Given the description of an element on the screen output the (x, y) to click on. 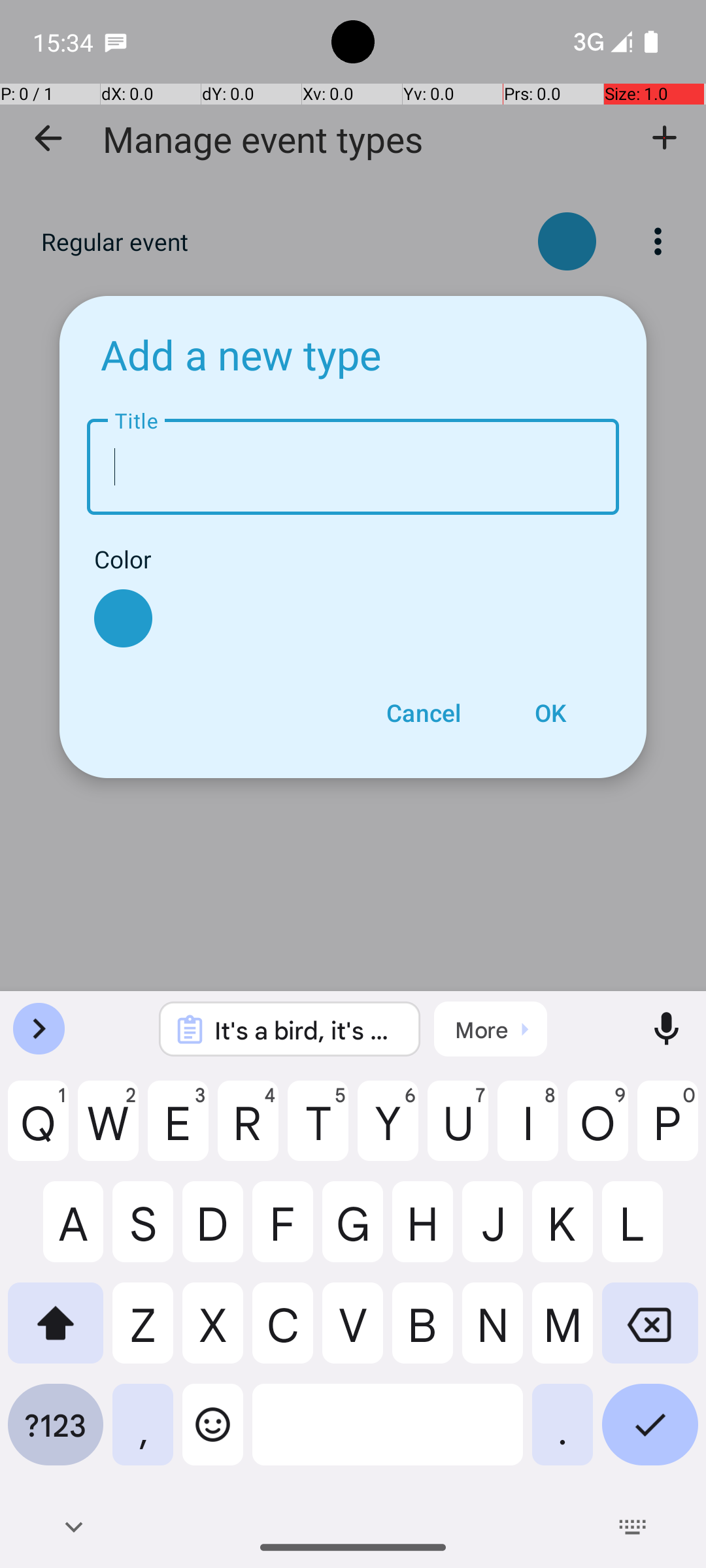
Add a new type Element type: android.widget.TextView (240, 354)
It's a bird, it's a plane. Element type: android.widget.TextView (306, 1029)
